Given the description of an element on the screen output the (x, y) to click on. 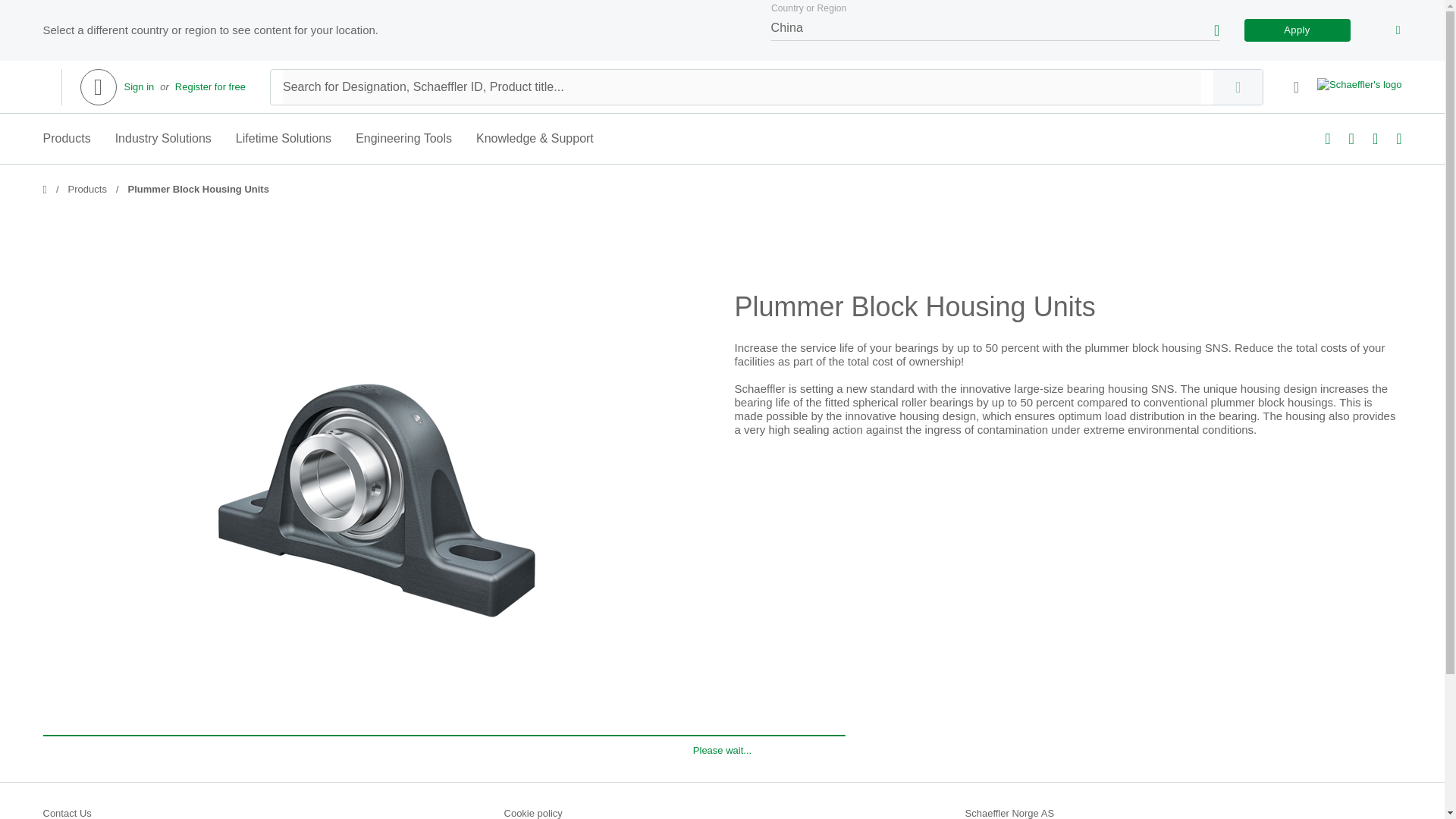
Register for free (210, 87)
Products (87, 189)
Contact Us (260, 812)
Sign in (138, 87)
Cookie policy (721, 812)
Apply (1296, 29)
